Given the description of an element on the screen output the (x, y) to click on. 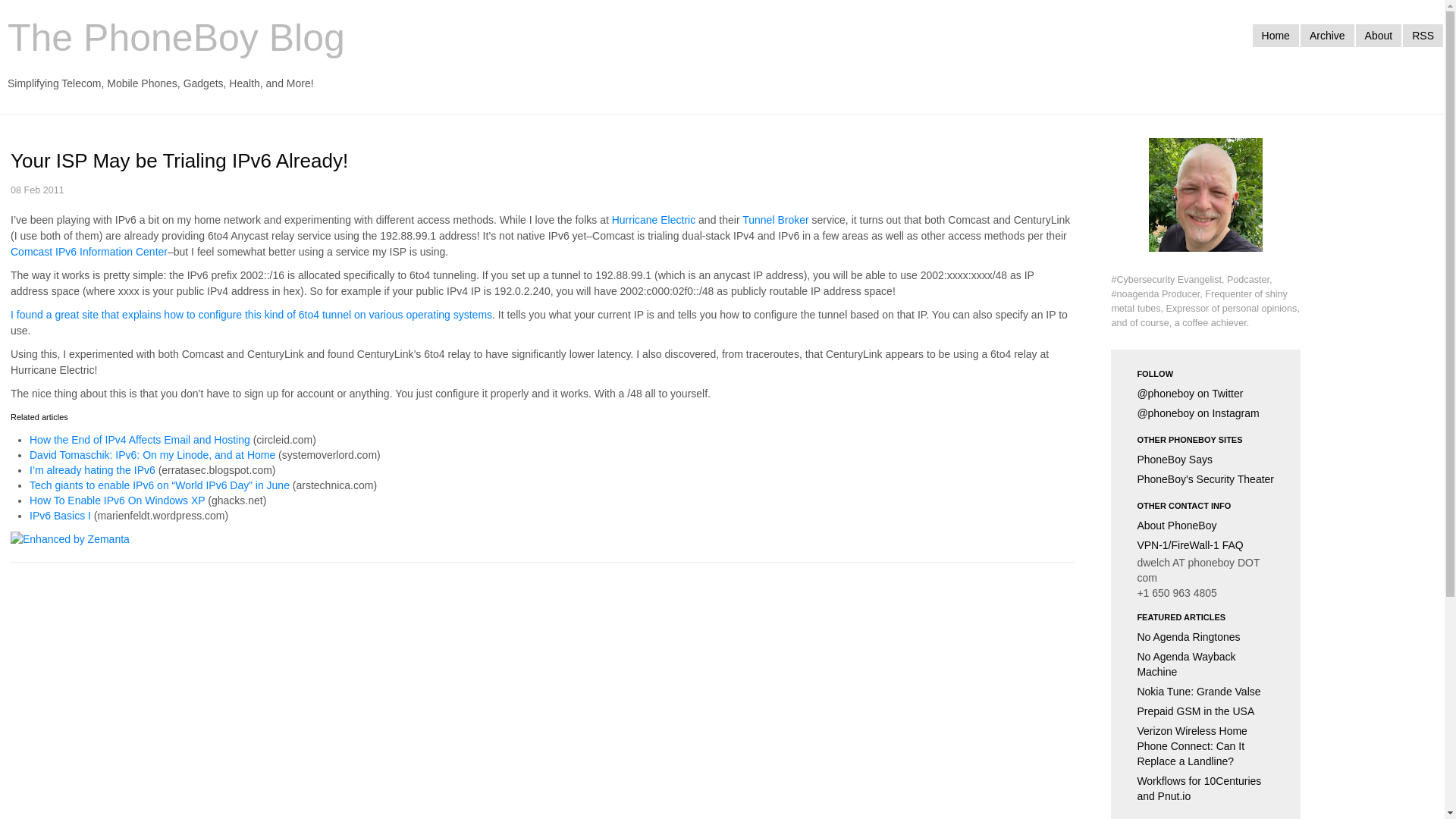
PhoneBoy's Security Theater (1205, 478)
About (1378, 35)
Home (1275, 35)
Tunnel Broker (775, 219)
Hurricane Electric (653, 219)
No Agenda Wayback Machine (1205, 664)
How To Enable IPv6 On Windows XP (117, 500)
RSS (1422, 35)
Nokia Tune: Grande Valse (1205, 691)
Archive (1327, 35)
No Agenda Ringtones (1205, 637)
Prepaid GSM in the USA (1205, 711)
Workflows for 10Centuries and Pnut.io (1205, 788)
